Given the description of an element on the screen output the (x, y) to click on. 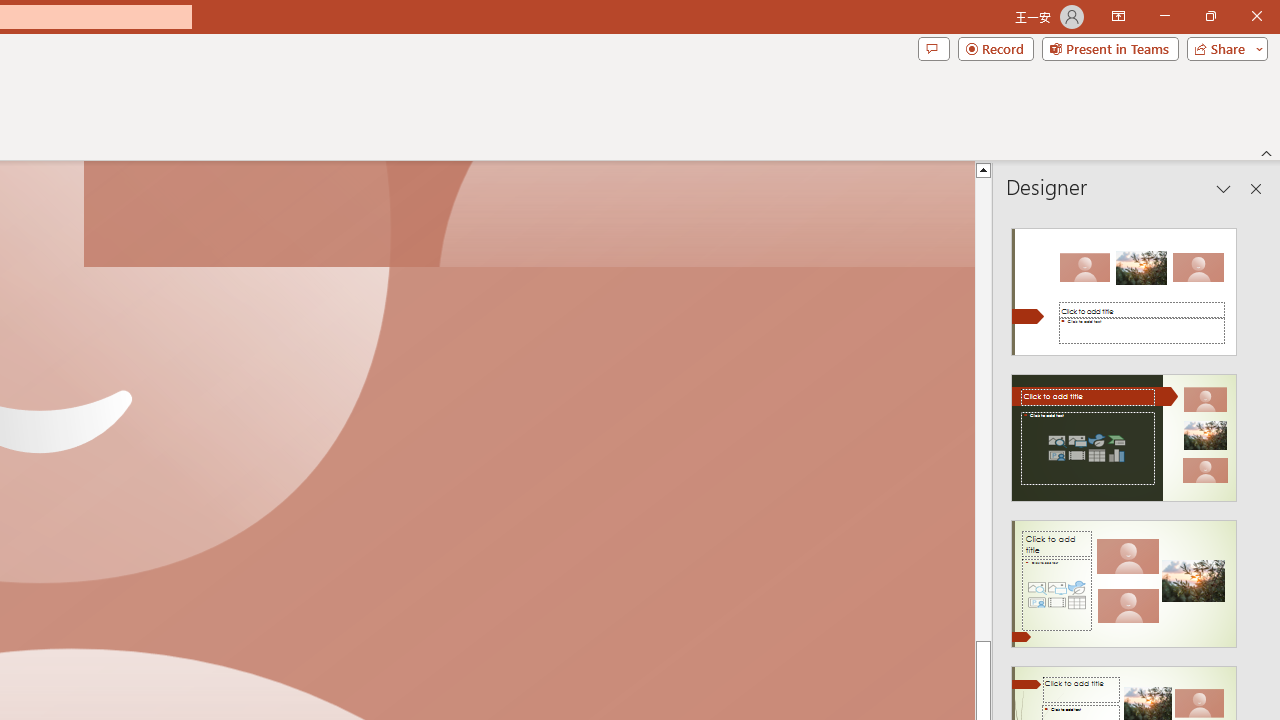
Camera 7, No camera detected. (529, 215)
